Given the description of an element on the screen output the (x, y) to click on. 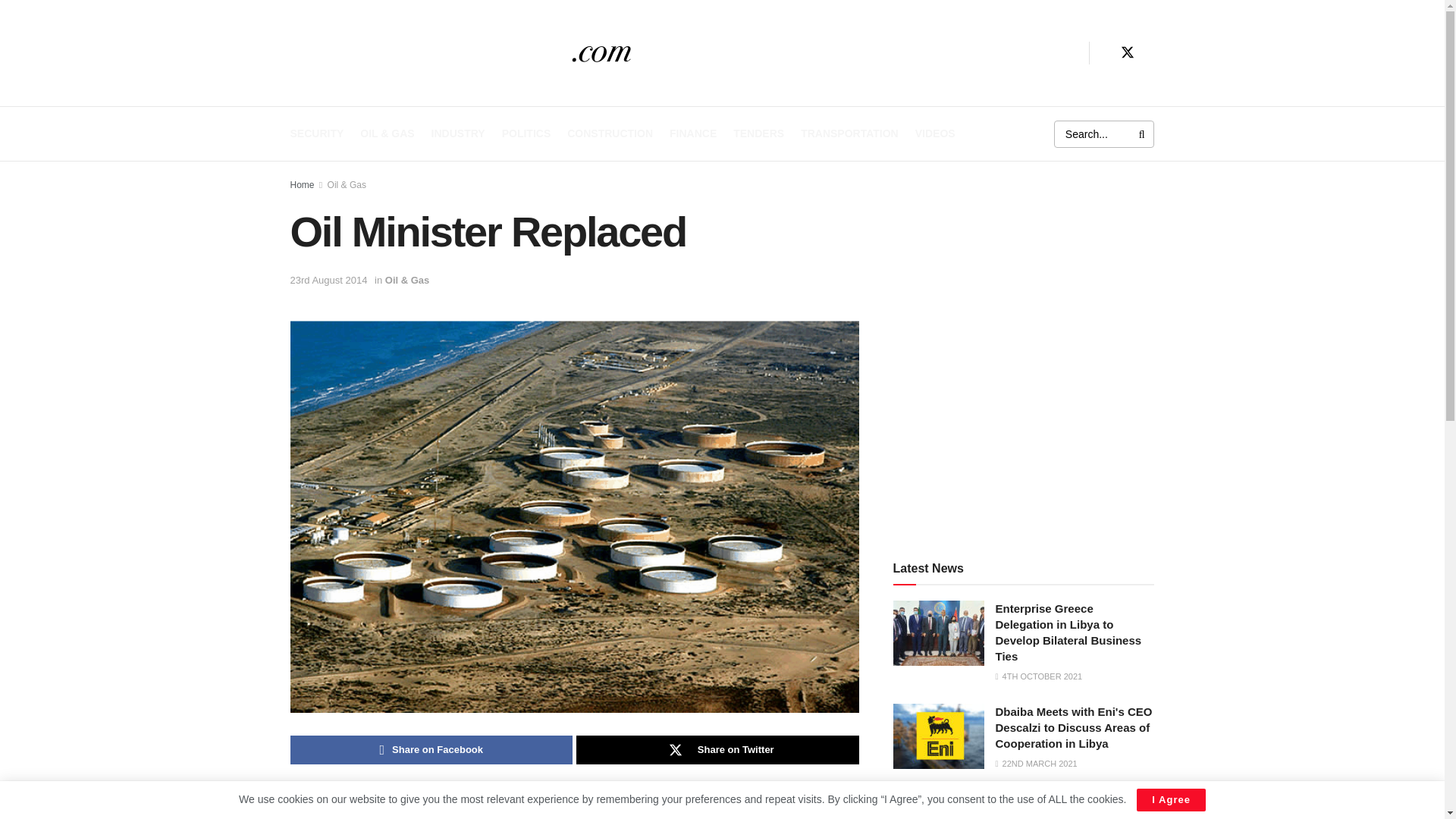
SECURITY (316, 133)
Advertisement (1023, 418)
23rd August 2014 (327, 279)
POLITICS (526, 133)
Home (301, 184)
TENDERS (758, 133)
Share on Twitter (717, 749)
TRANSPORTATION (849, 133)
Share on Facebook (430, 749)
CONSTRUCTION (609, 133)
INDUSTRY (457, 133)
